Given the description of an element on the screen output the (x, y) to click on. 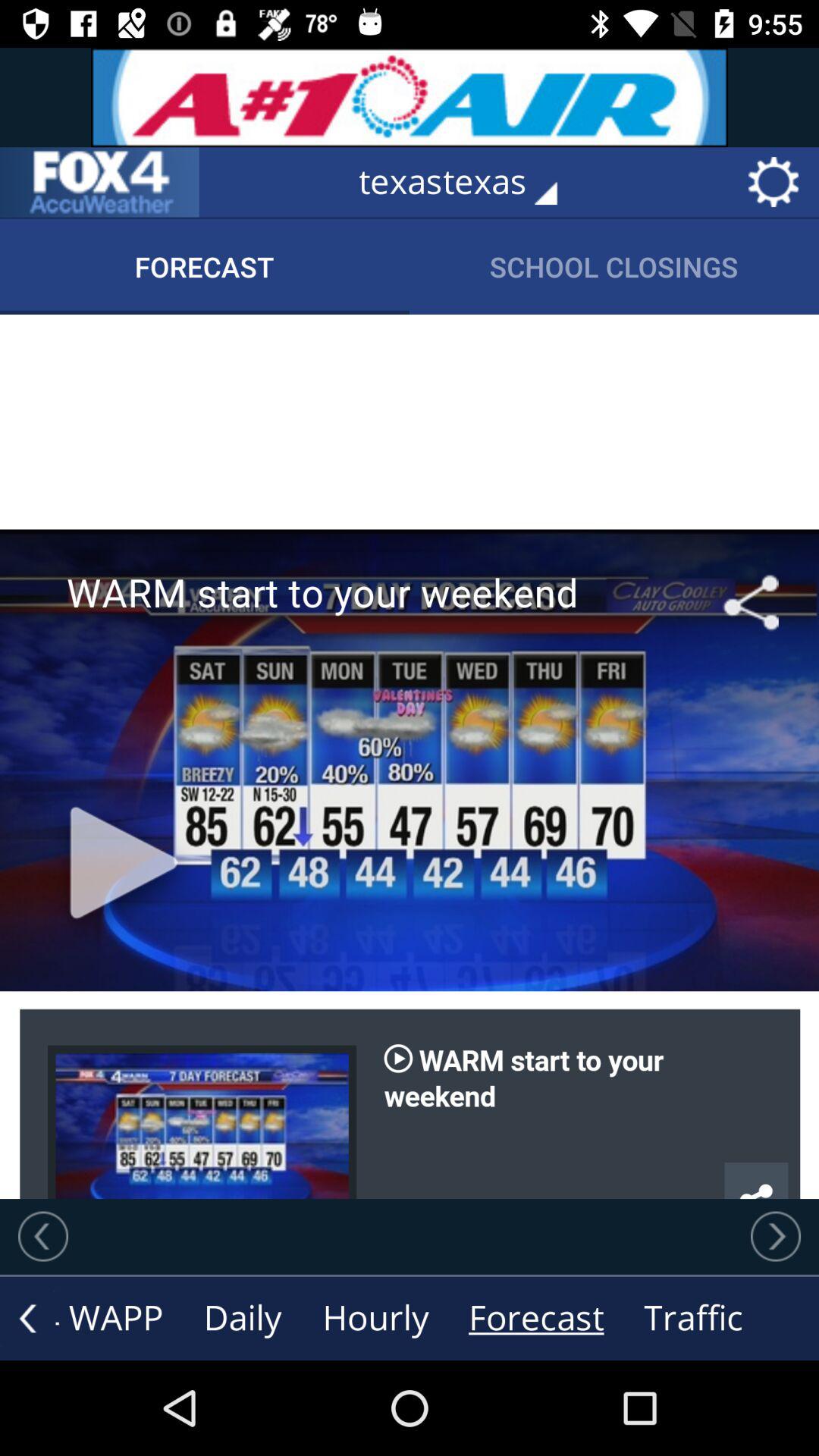
go to that page (99, 182)
